Given the description of an element on the screen output the (x, y) to click on. 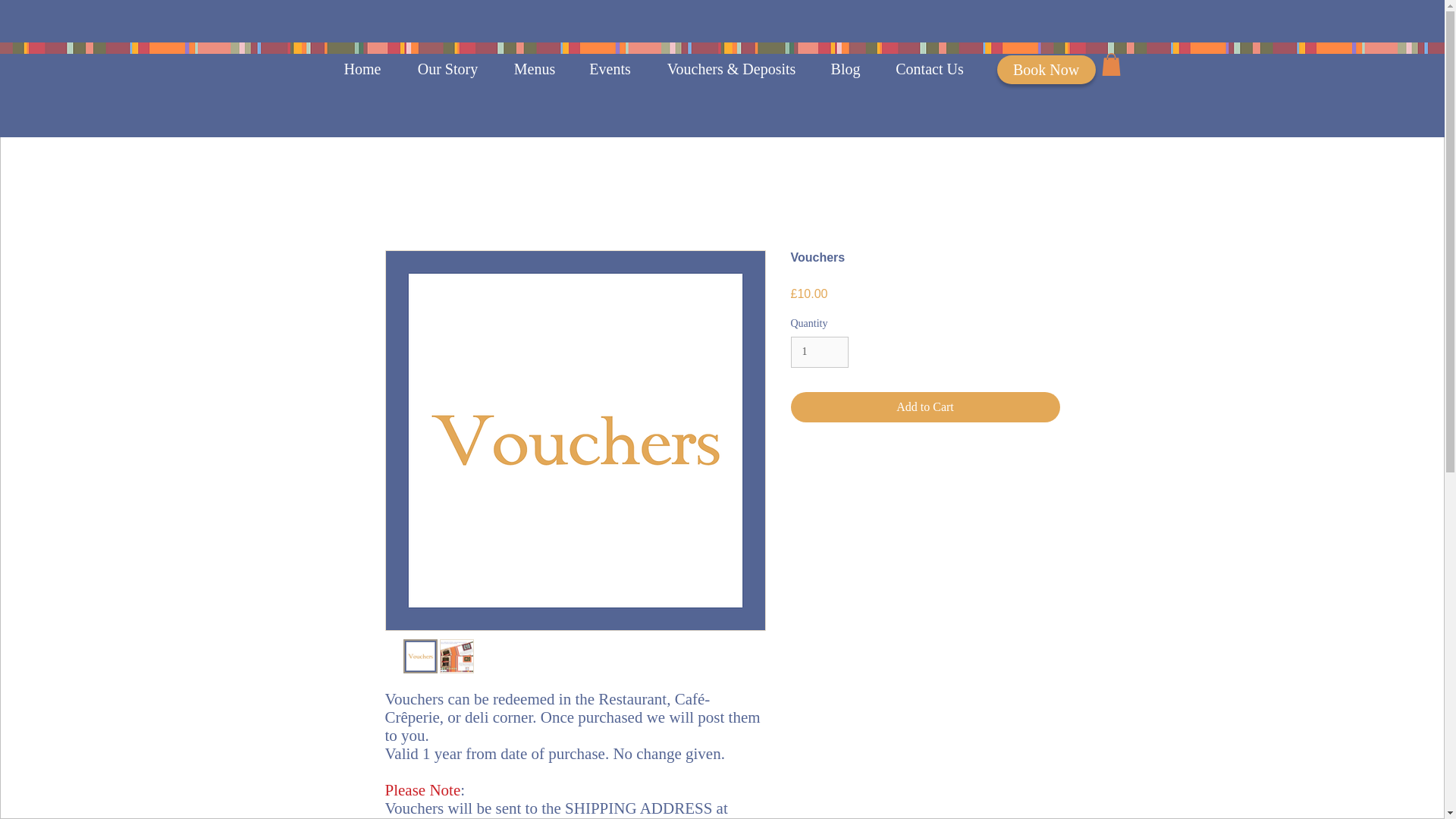
Home (361, 68)
1 (818, 351)
Menus (534, 68)
Add to Cart (924, 407)
Book Now (1044, 69)
Our Story (447, 68)
Blog (844, 68)
Contact Us (930, 68)
Reservations (1039, 68)
